Given the description of an element on the screen output the (x, y) to click on. 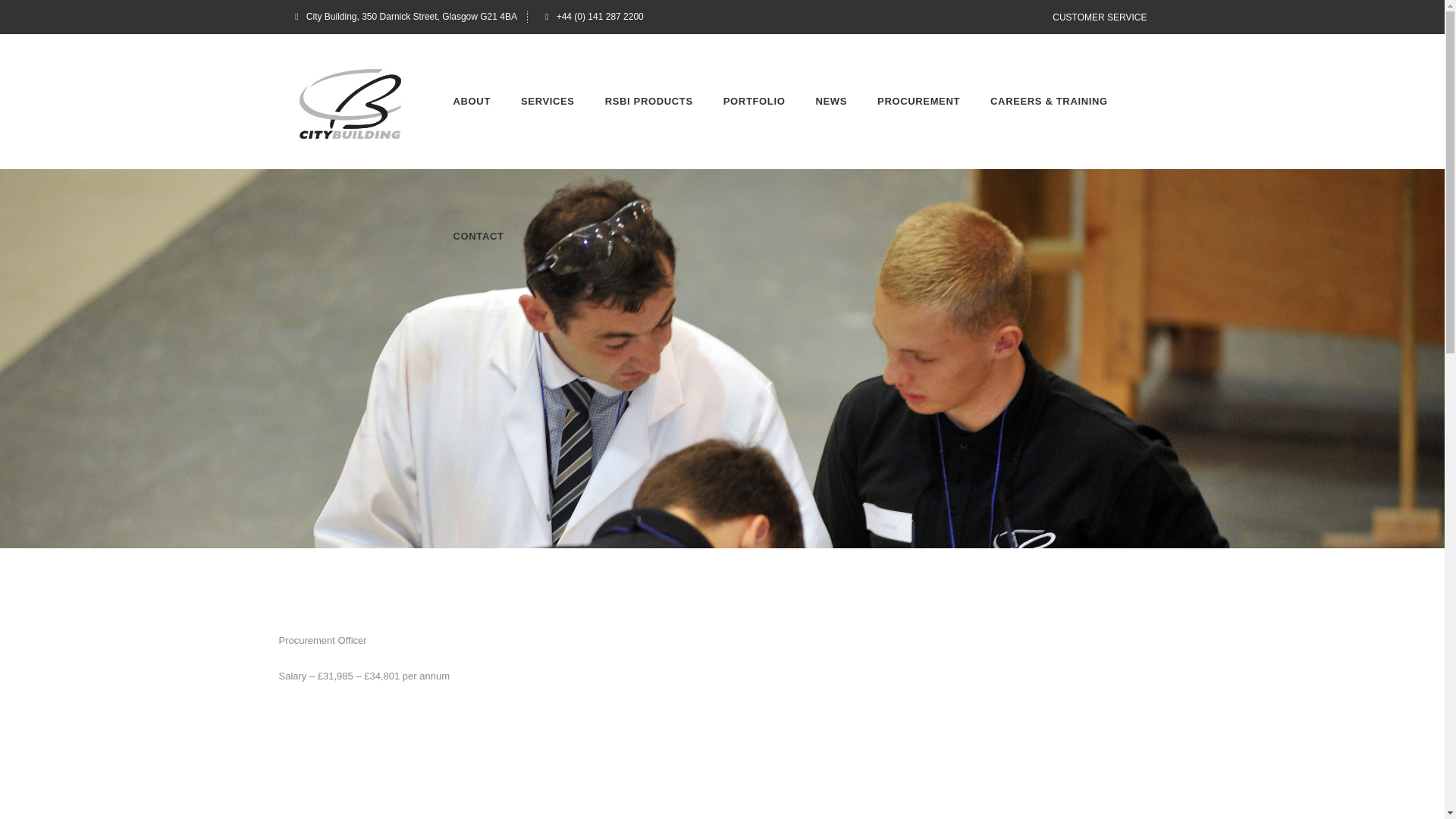
ABOUT (471, 101)
RSBI PRODUCTS (648, 101)
CUSTOMER SERVICE (1099, 17)
SERVICES (547, 101)
